Given the description of an element on the screen output the (x, y) to click on. 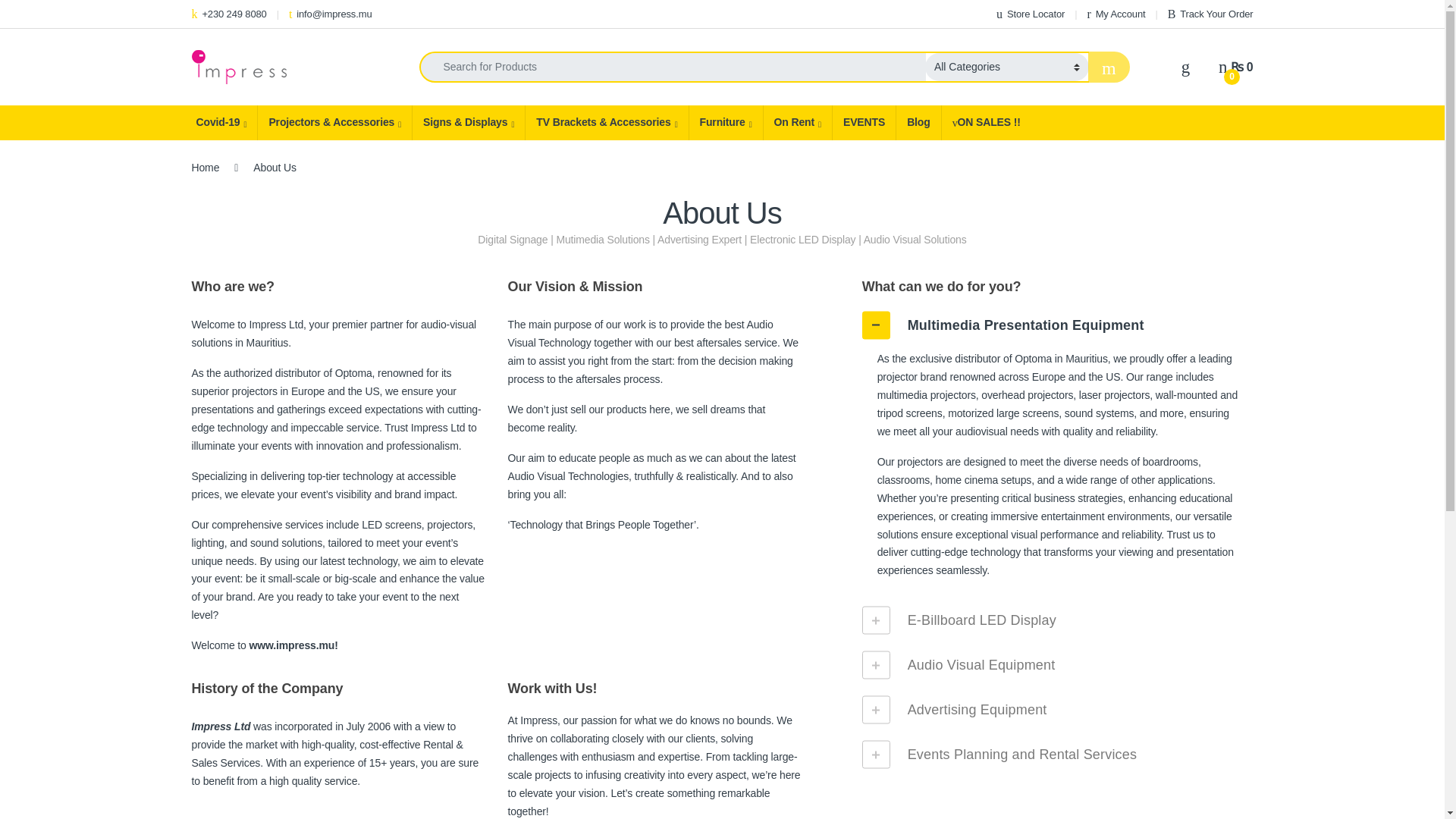
Store Locator (1029, 13)
Store Locator (1029, 13)
Track Your Order (1210, 13)
My Account (1115, 13)
Track Your Order (1210, 13)
My Account (1115, 13)
